Given the description of an element on the screen output the (x, y) to click on. 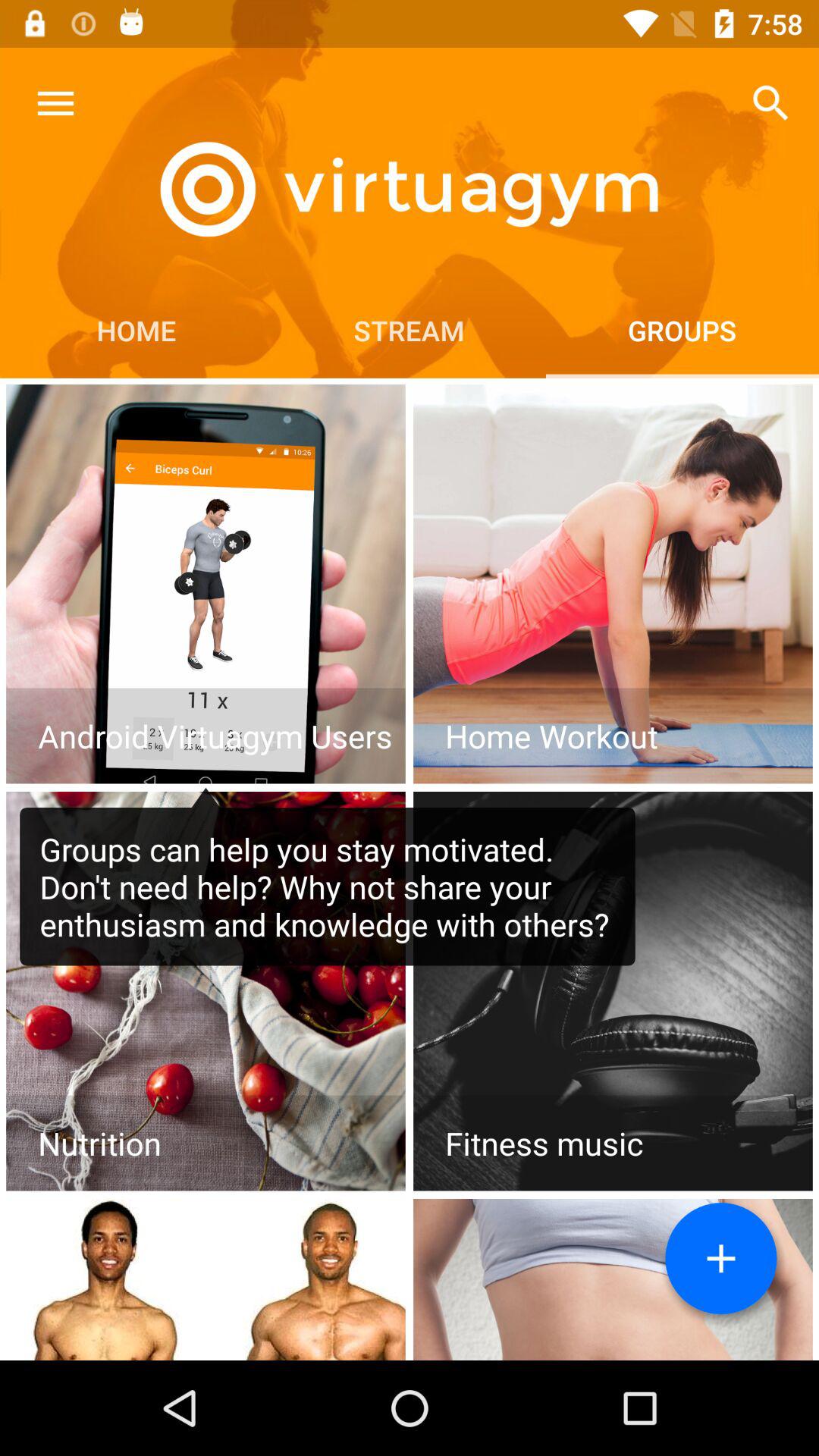
go to section (612, 583)
